Given the description of an element on the screen output the (x, y) to click on. 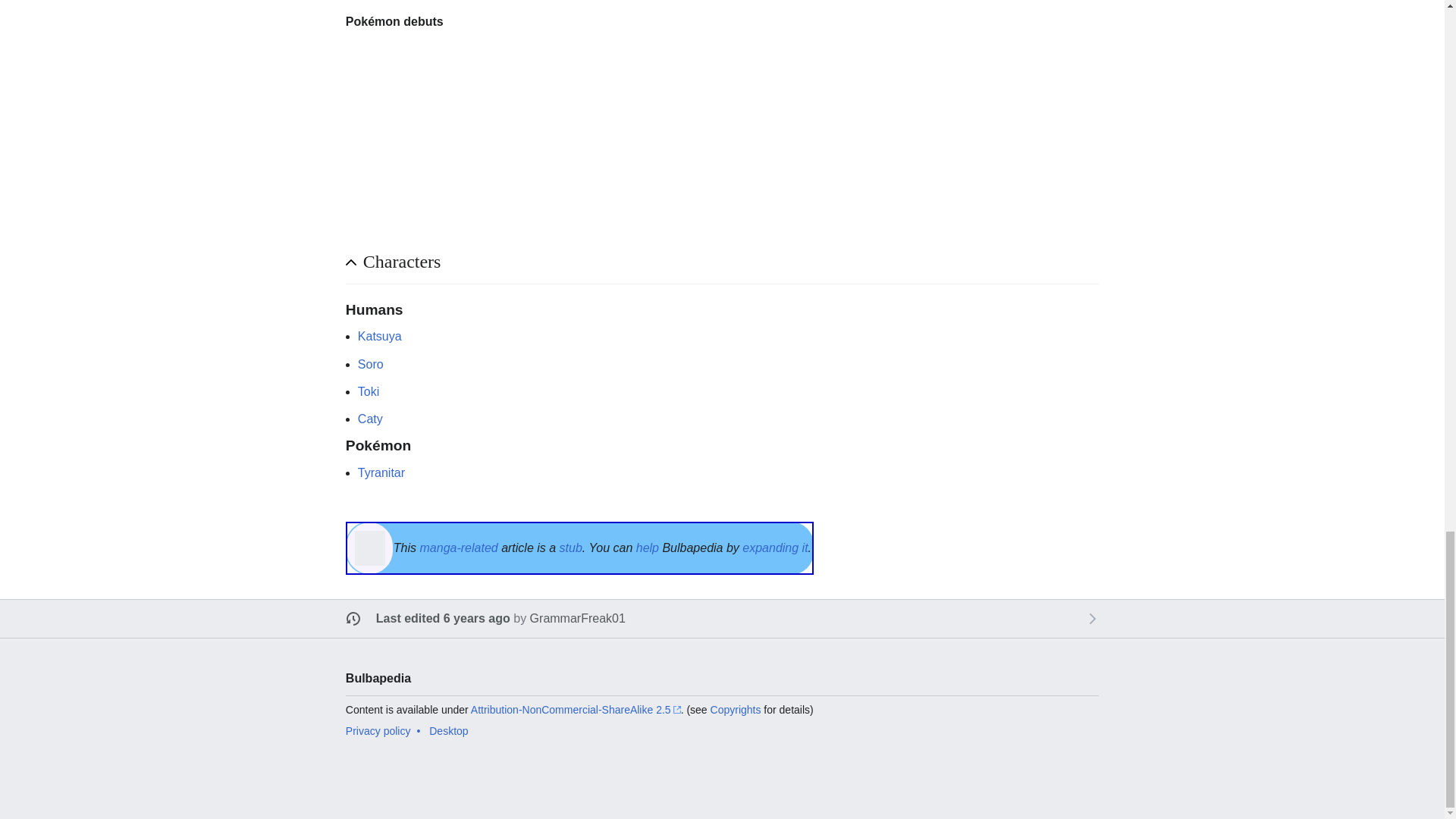
Soro (371, 364)
Katsuya (379, 336)
help (647, 547)
Toki (368, 391)
stub (570, 547)
Caty (370, 418)
Toki (368, 391)
Caty (370, 418)
Katsuya (379, 336)
